Given the description of an element on the screen output the (x, y) to click on. 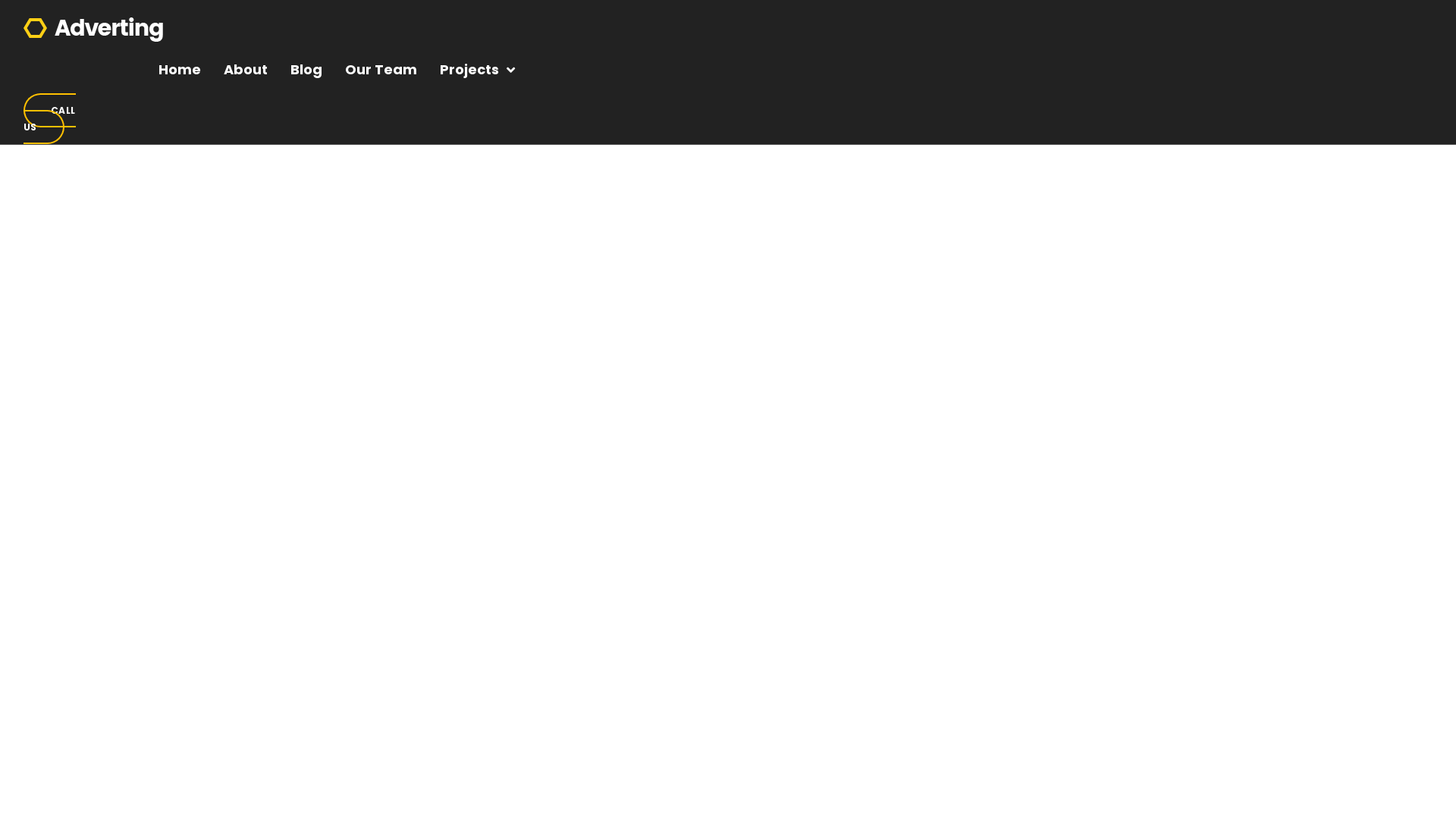
Home Element type: text (179, 69)
CALL US Element type: text (49, 118)
Our Team Element type: text (380, 69)
About Element type: text (245, 69)
Blog Element type: text (306, 69)
Projects Element type: text (477, 69)
